Given the description of an element on the screen output the (x, y) to click on. 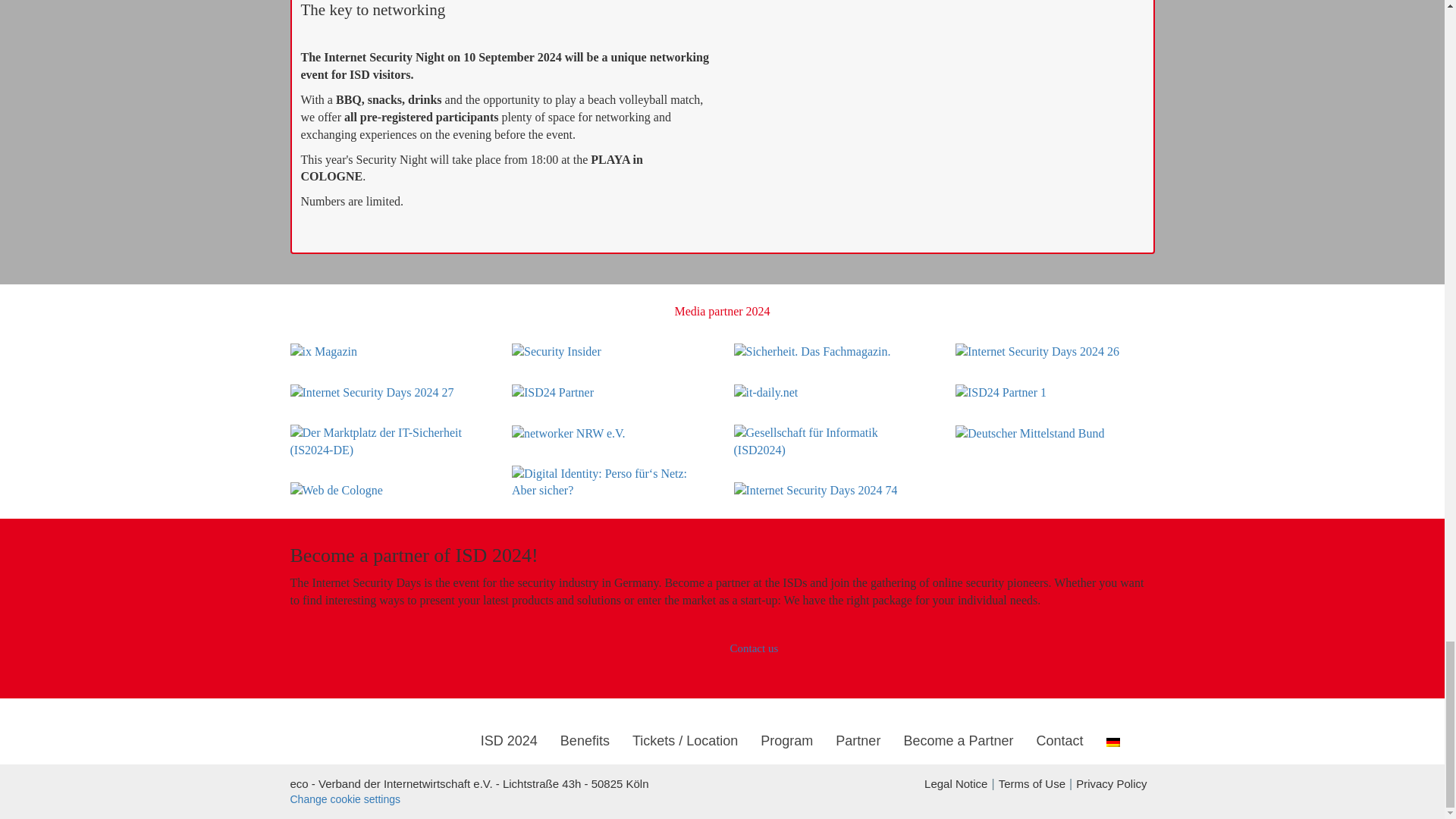
Web de Cologne (335, 490)
ix Magazin (322, 352)
ISD24 Partner (553, 393)
Internet Security Days 2024 40 (370, 393)
Der Marktplatz der IT-Sicherheit (389, 442)
Internet Security Days 2024 39 (1037, 352)
Sicherheit. Das Fachmagazin. (812, 352)
Security Insider (556, 352)
